Given the description of an element on the screen output the (x, y) to click on. 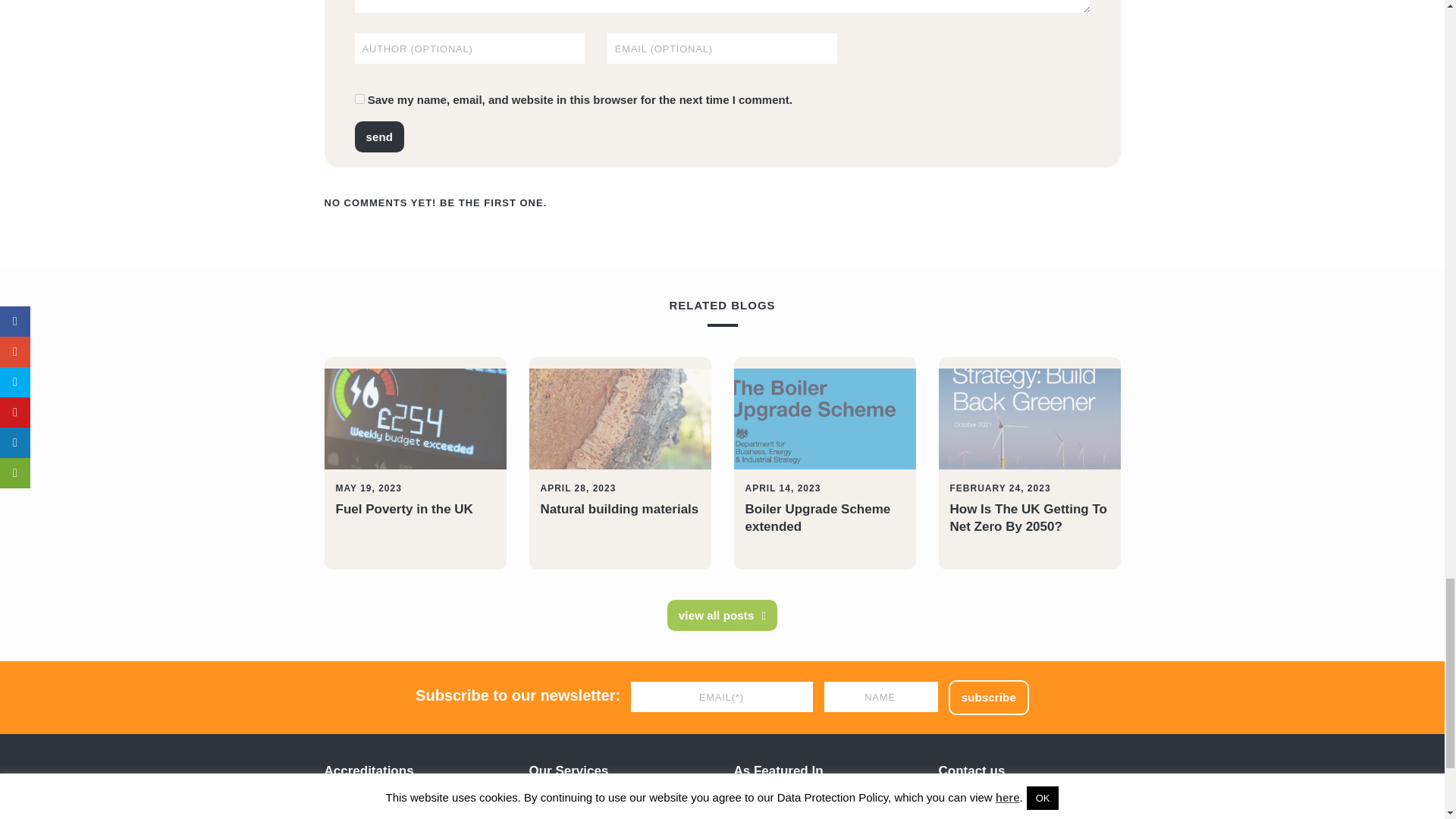
Send (379, 136)
subscribe (989, 697)
yes (360, 99)
